Given the description of an element on the screen output the (x, y) to click on. 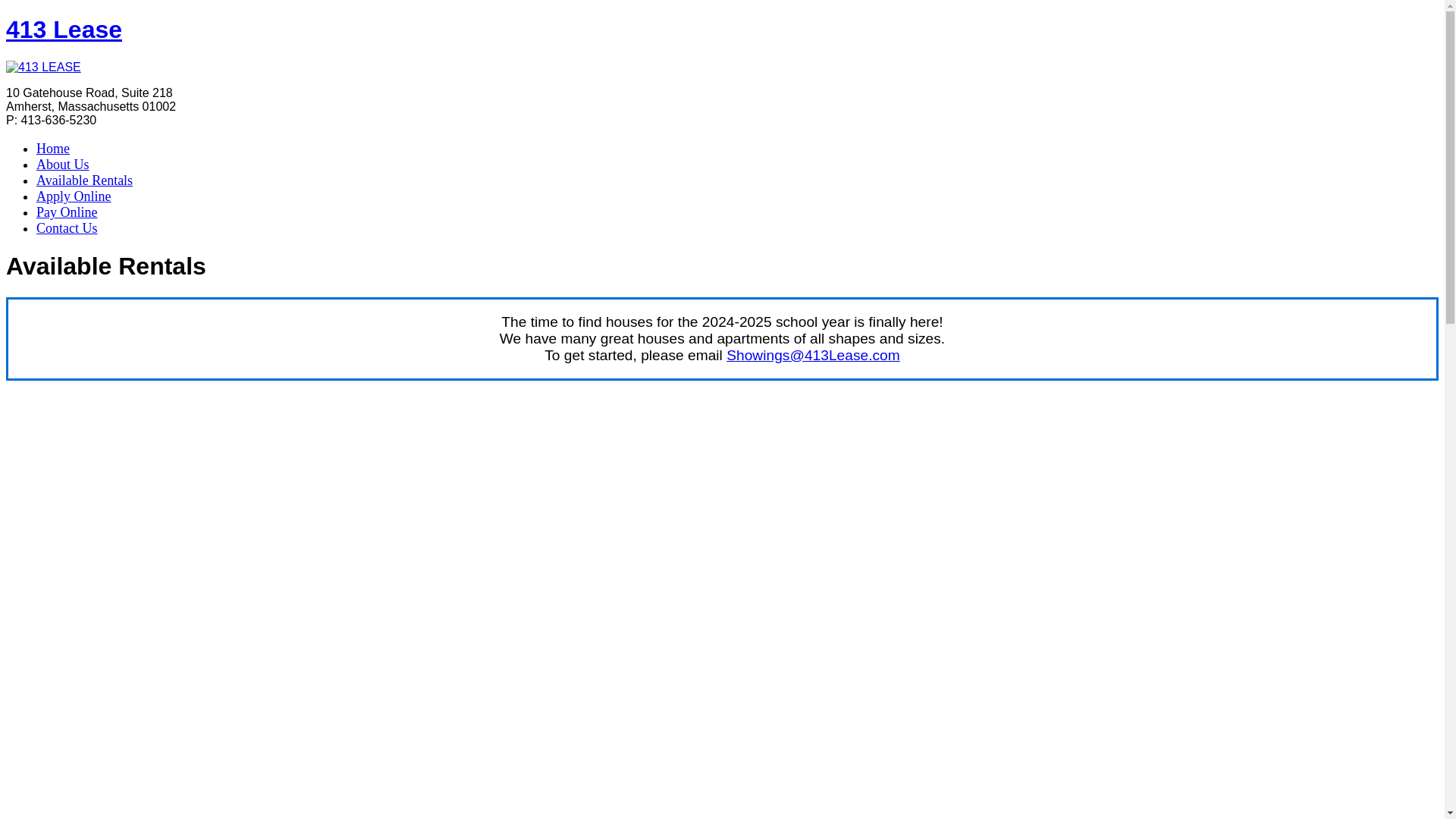
About Us Element type: text (62, 164)
Contact Us Element type: text (66, 227)
Apply Online Element type: text (73, 195)
Pay Online Element type: text (66, 211)
Available Rentals Element type: text (84, 180)
Showings@413Lease.com Element type: text (813, 355)
Home Element type: text (52, 148)
413 Lease Element type: text (64, 29)
